Given the description of an element on the screen output the (x, y) to click on. 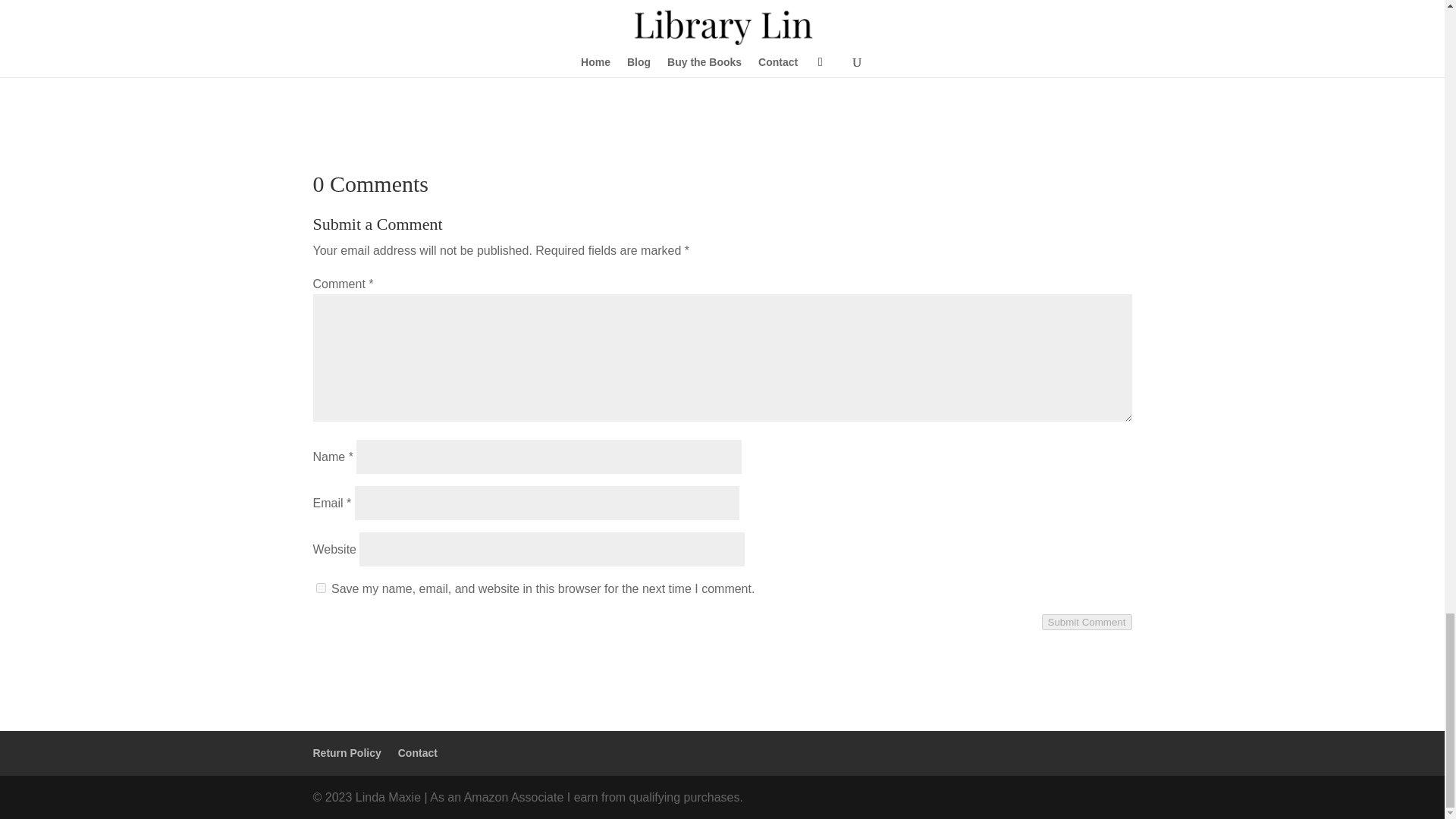
yes (319, 587)
Return Policy (346, 752)
Submit Comment (1087, 621)
Contact (417, 752)
